Given the description of an element on the screen output the (x, y) to click on. 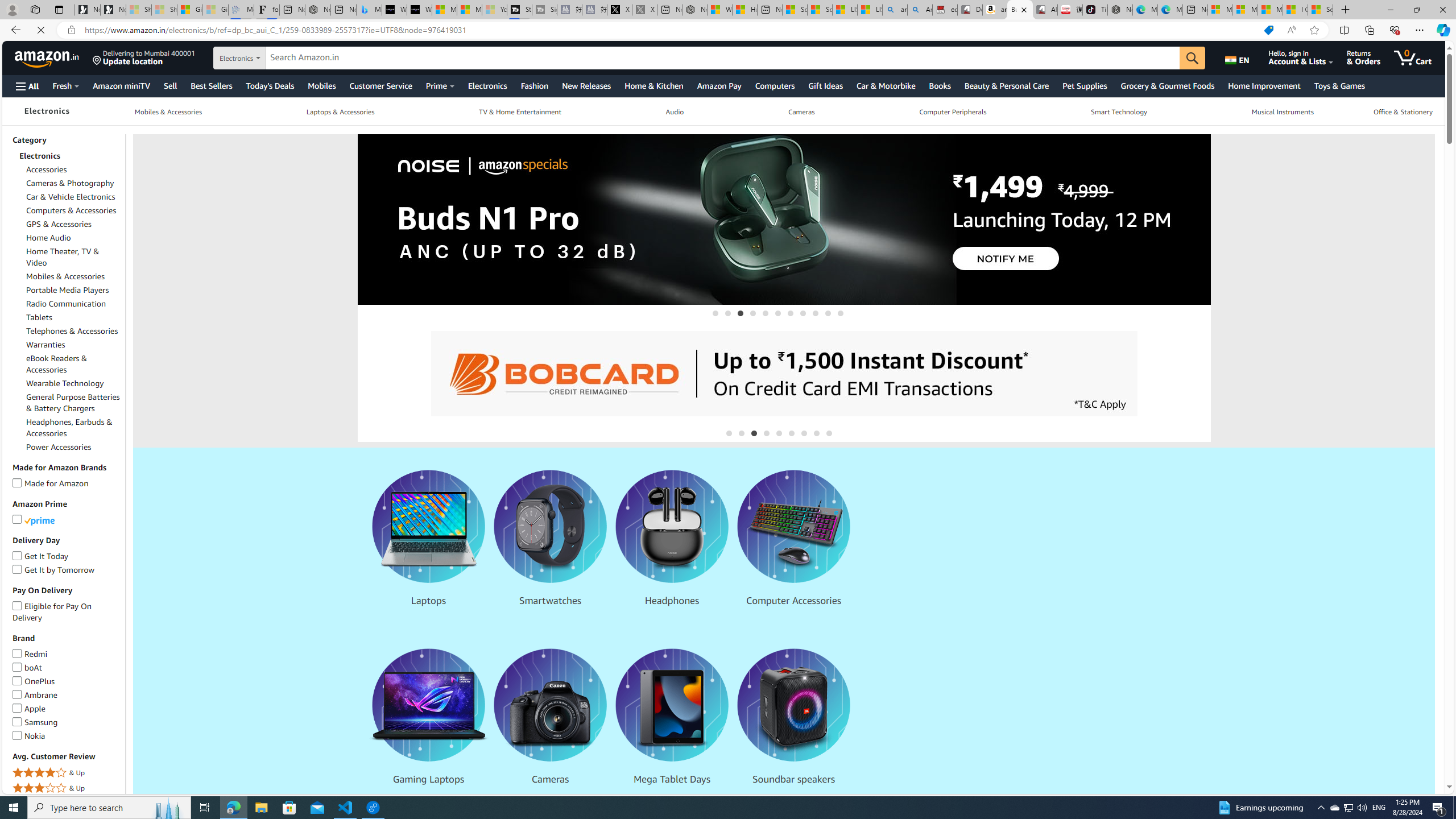
Microsoft account | Privacy (1244, 9)
Newsletter Sign Up (113, 9)
Electronics (46, 111)
Huge shark washes ashore at New York City beach | Watch (744, 9)
Electronics (46, 111)
Delivering to Mumbai 400001 Update location (143, 57)
